Given the description of an element on the screen output the (x, y) to click on. 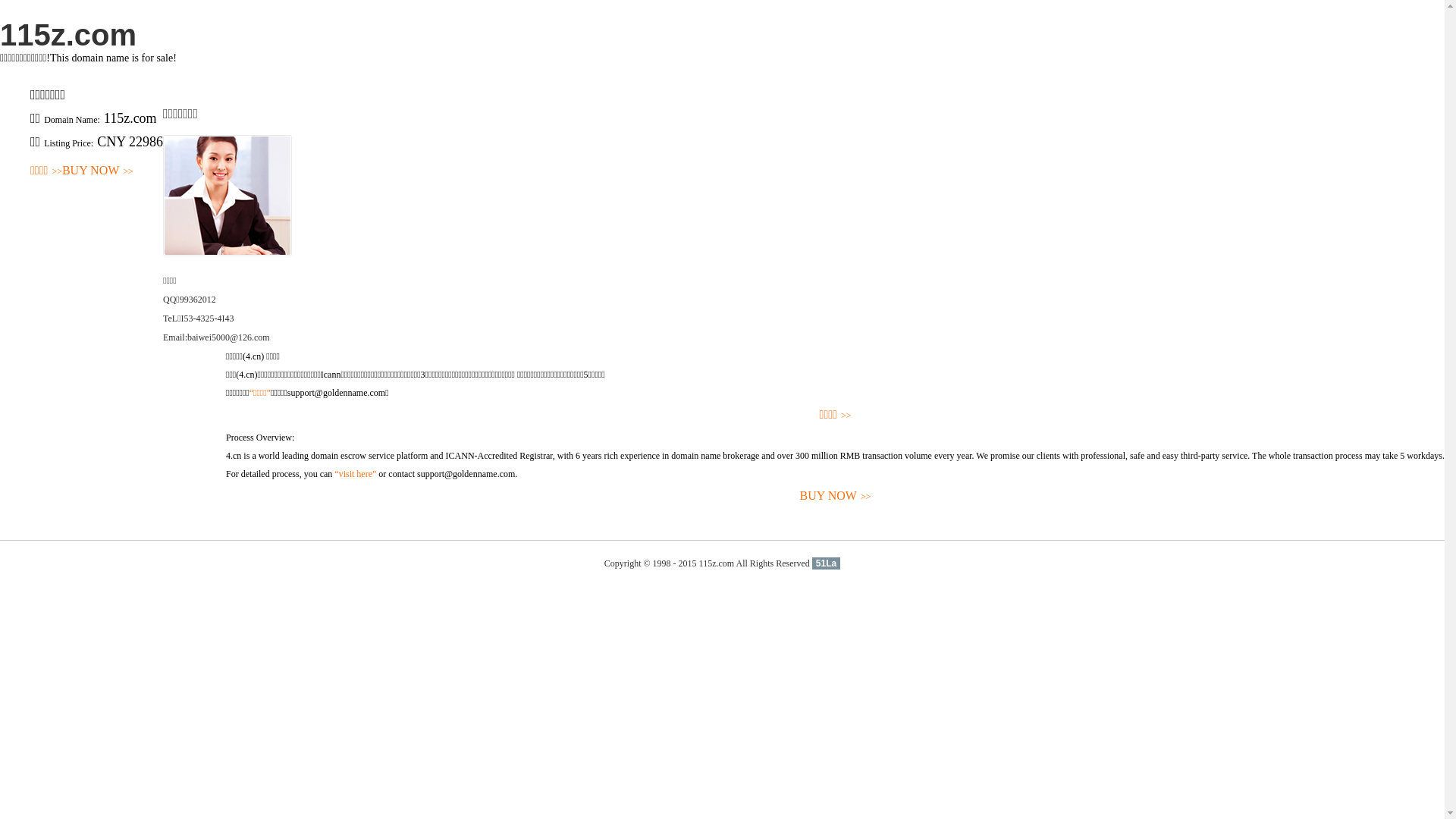
BUY NOW>> Element type: text (97, 170)
51La Element type: text (826, 563)
BUY NOW>> Element type: text (834, 496)
